Given the description of an element on the screen output the (x, y) to click on. 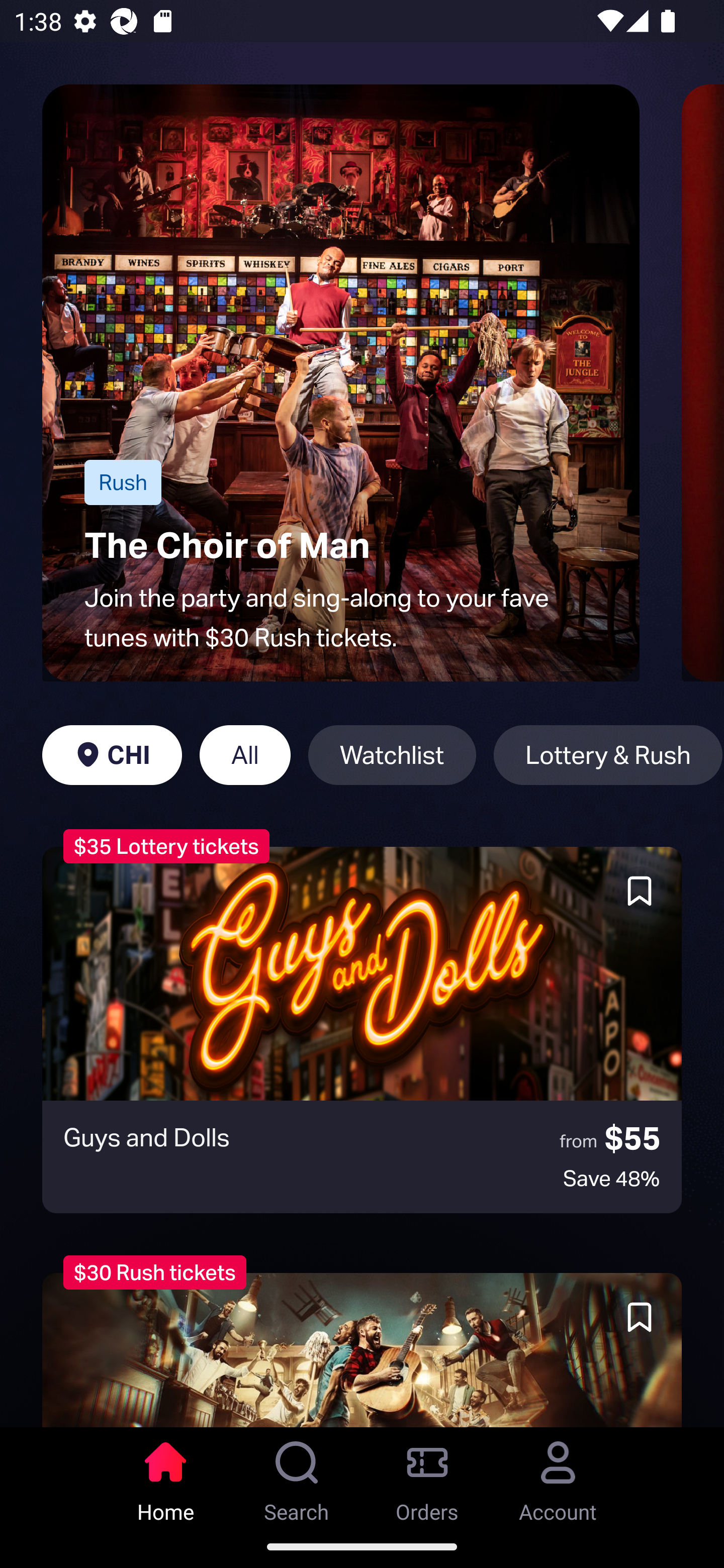
CHI (111, 754)
All (244, 754)
Watchlist (392, 754)
Lottery & Rush (607, 754)
Guys and Dolls from $55 Save 48% (361, 1029)
Search (296, 1475)
Orders (427, 1475)
Account (558, 1475)
